Given the description of an element on the screen output the (x, y) to click on. 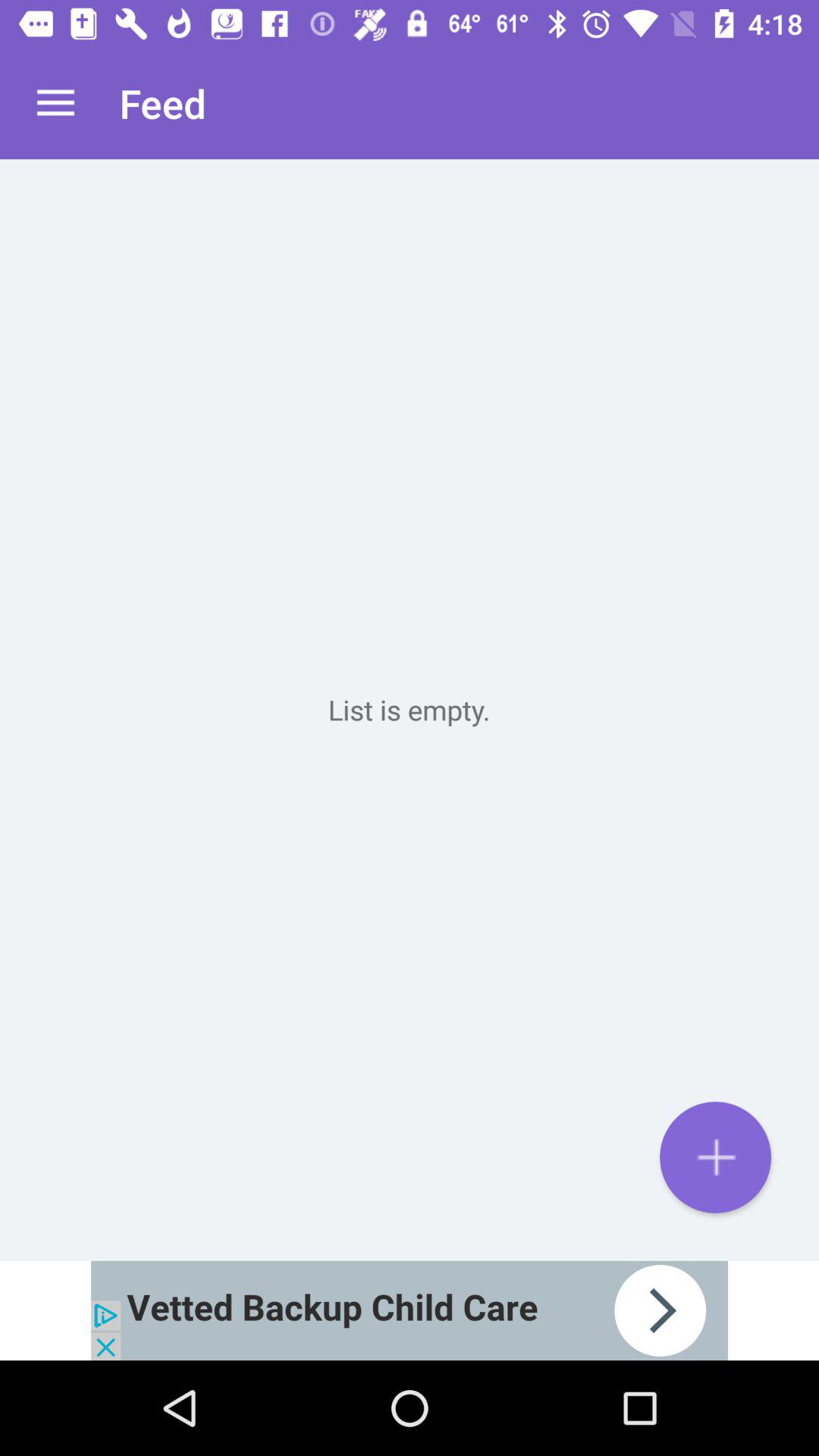
view advertisement (409, 1310)
